Given the description of an element on the screen output the (x, y) to click on. 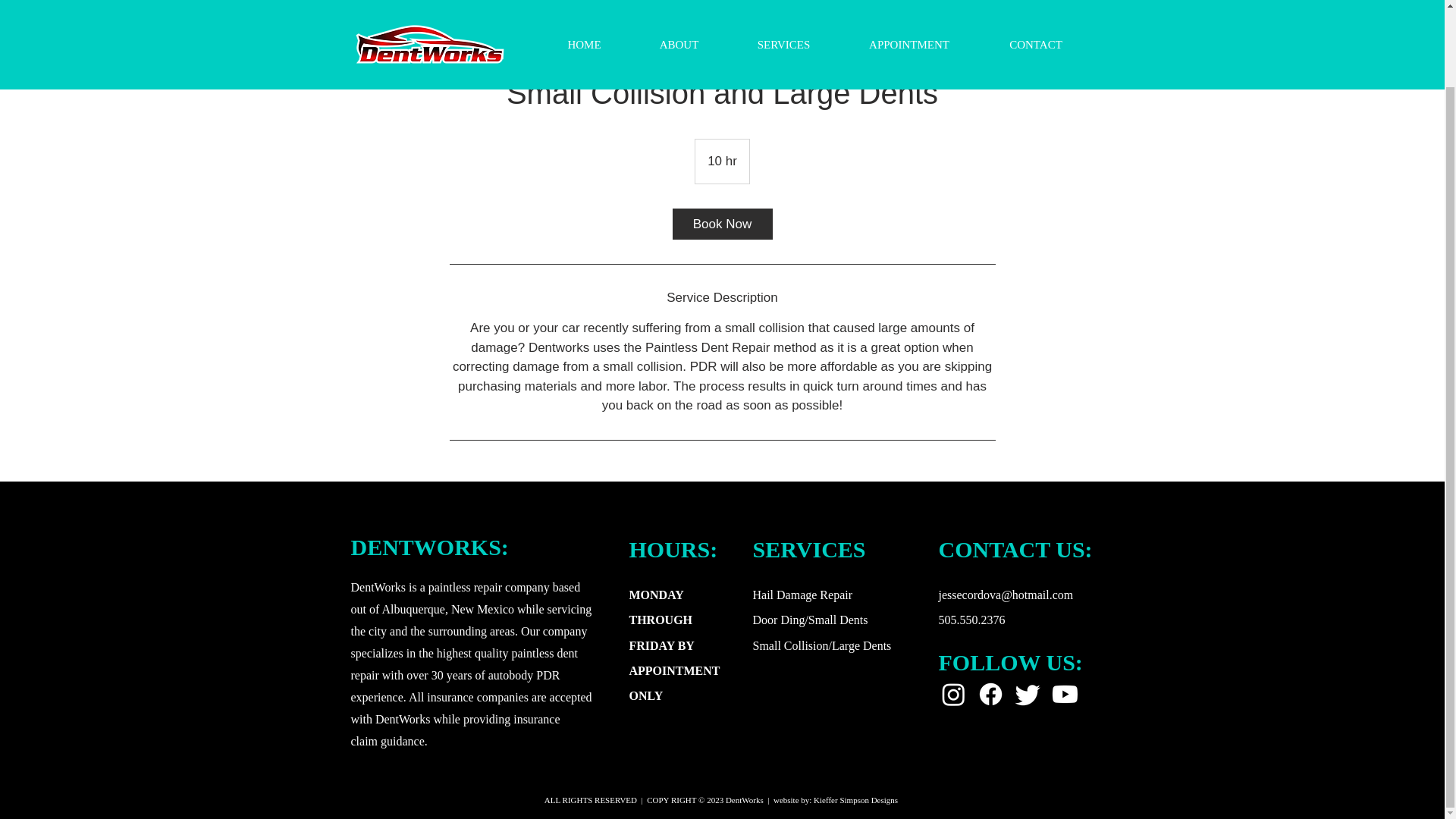
Book Now (721, 223)
